Given the description of an element on the screen output the (x, y) to click on. 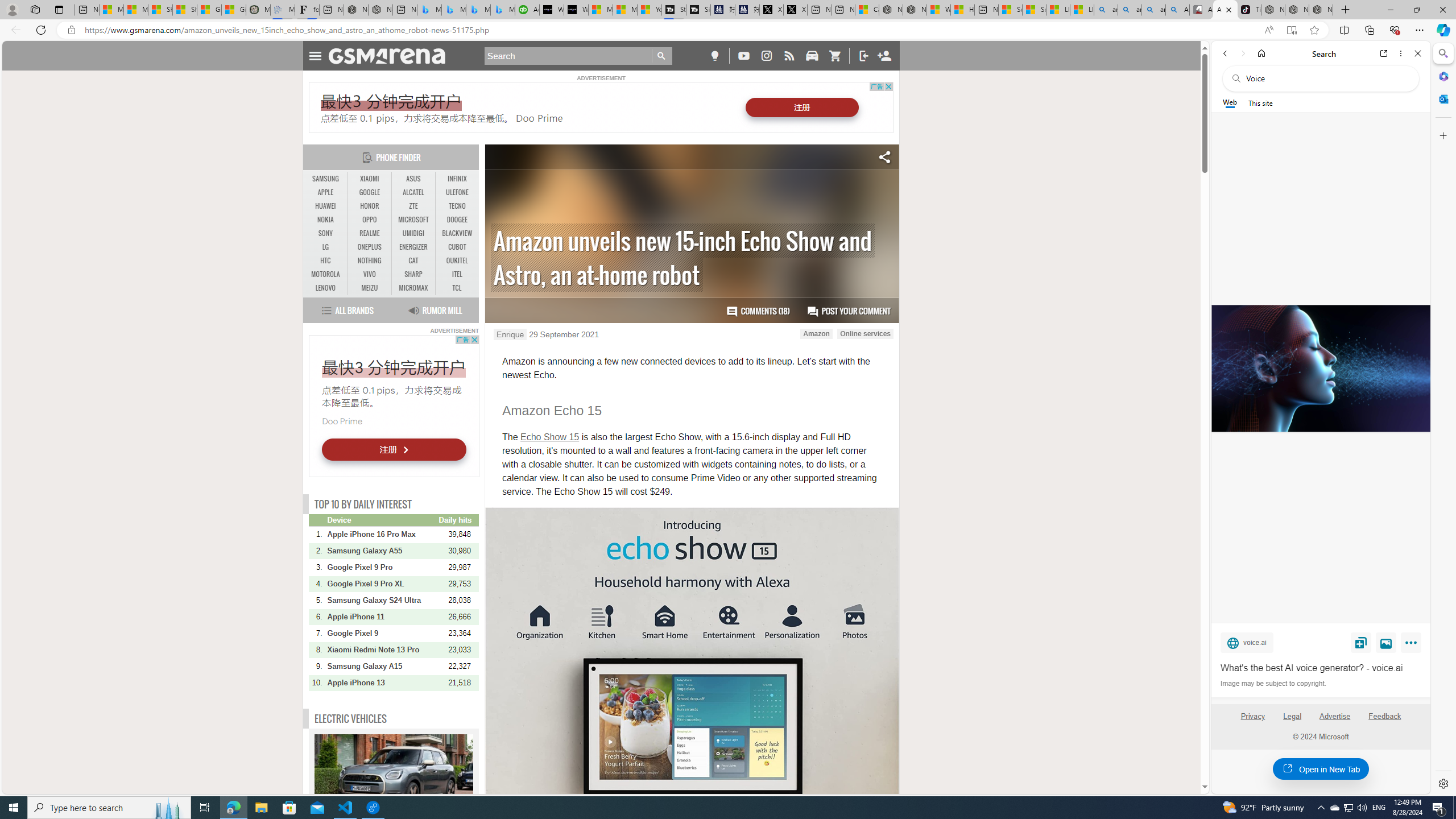
Open link in new tab (1383, 53)
MOTOROLA (325, 273)
MEIZU (369, 287)
Samsung Galaxy S24 Ultra (381, 600)
UMIDIGI (413, 233)
NOKIA (325, 219)
ITEL (457, 273)
Doo Prime (341, 421)
LG (325, 246)
Google Pixel 9 Pro (381, 566)
